Given the description of an element on the screen output the (x, y) to click on. 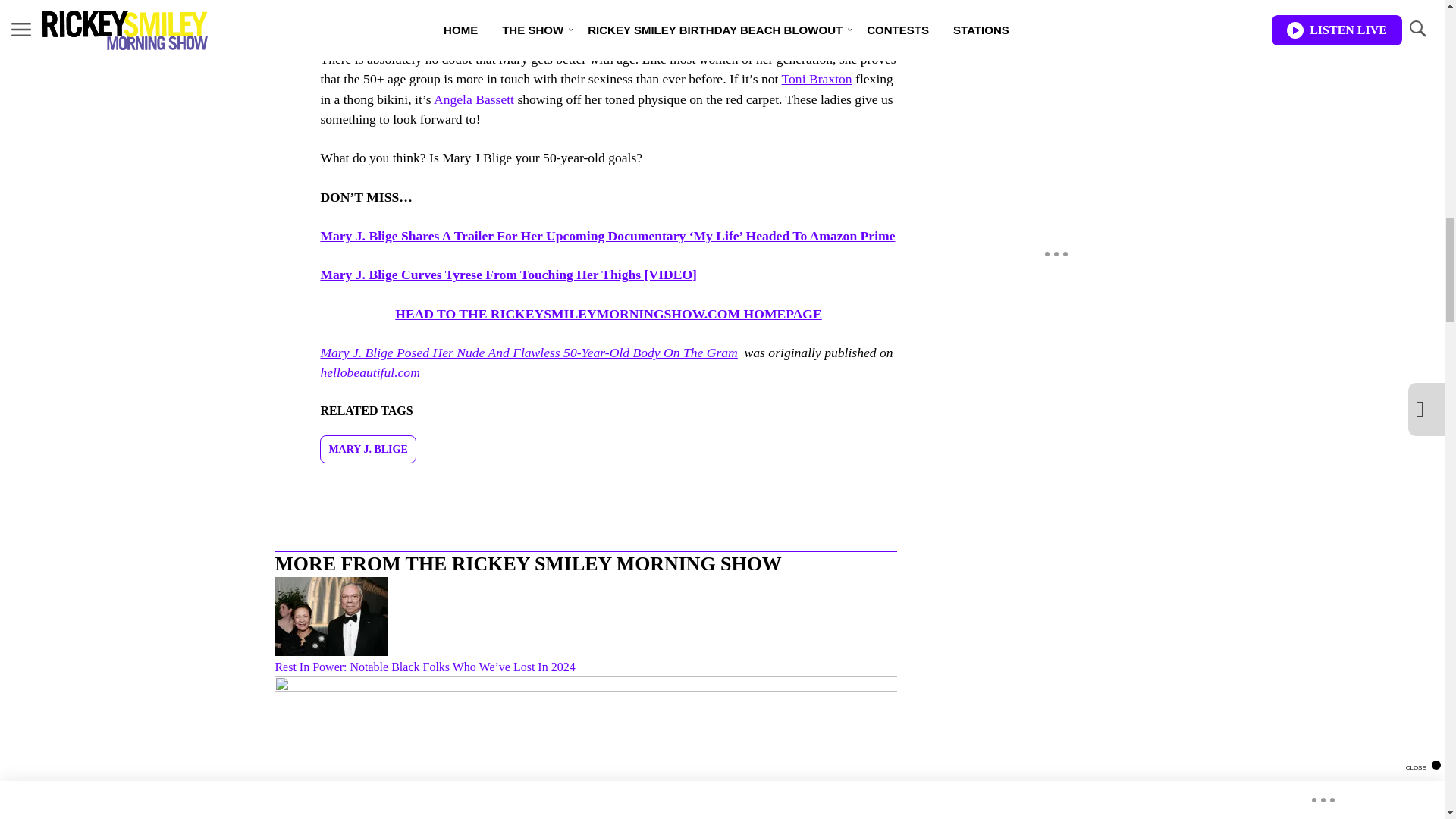
MARY J. BLIGE (367, 448)
HEAD TO THE RICKEYSMILEYMORNINGSHOW.COM HOMEPAGE (608, 313)
hellobeautiful.com (369, 372)
Toni Braxton (816, 78)
Angela Bassett (473, 99)
Media Playlist (990, 1)
